Given the description of an element on the screen output the (x, y) to click on. 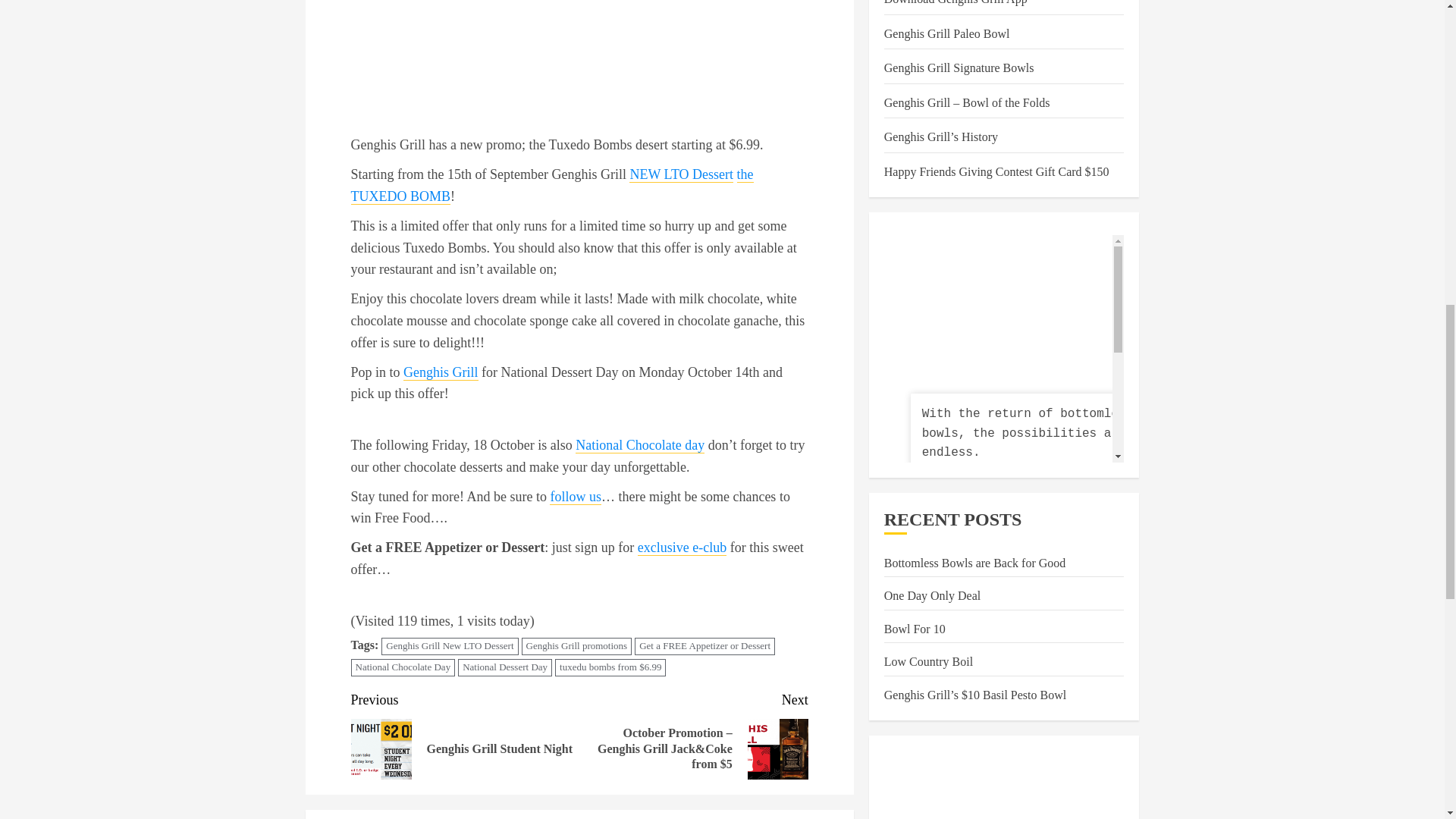
Genghis Grill promotions (576, 646)
Share (1037, 204)
Get a FREE Appetizer or Dessert (704, 646)
NEW LTO Dessert (680, 174)
exclusive e-club (681, 547)
View on Facebook (962, 204)
National Chocolate Day (402, 667)
Genghis Grill New LTO Dessert (449, 646)
the TUXEDO BOMB (551, 185)
Genghis Grill (464, 734)
National Dessert Day (441, 372)
follow us (504, 667)
National Chocolate day (575, 496)
Advertisement (639, 445)
